Given the description of an element on the screen output the (x, y) to click on. 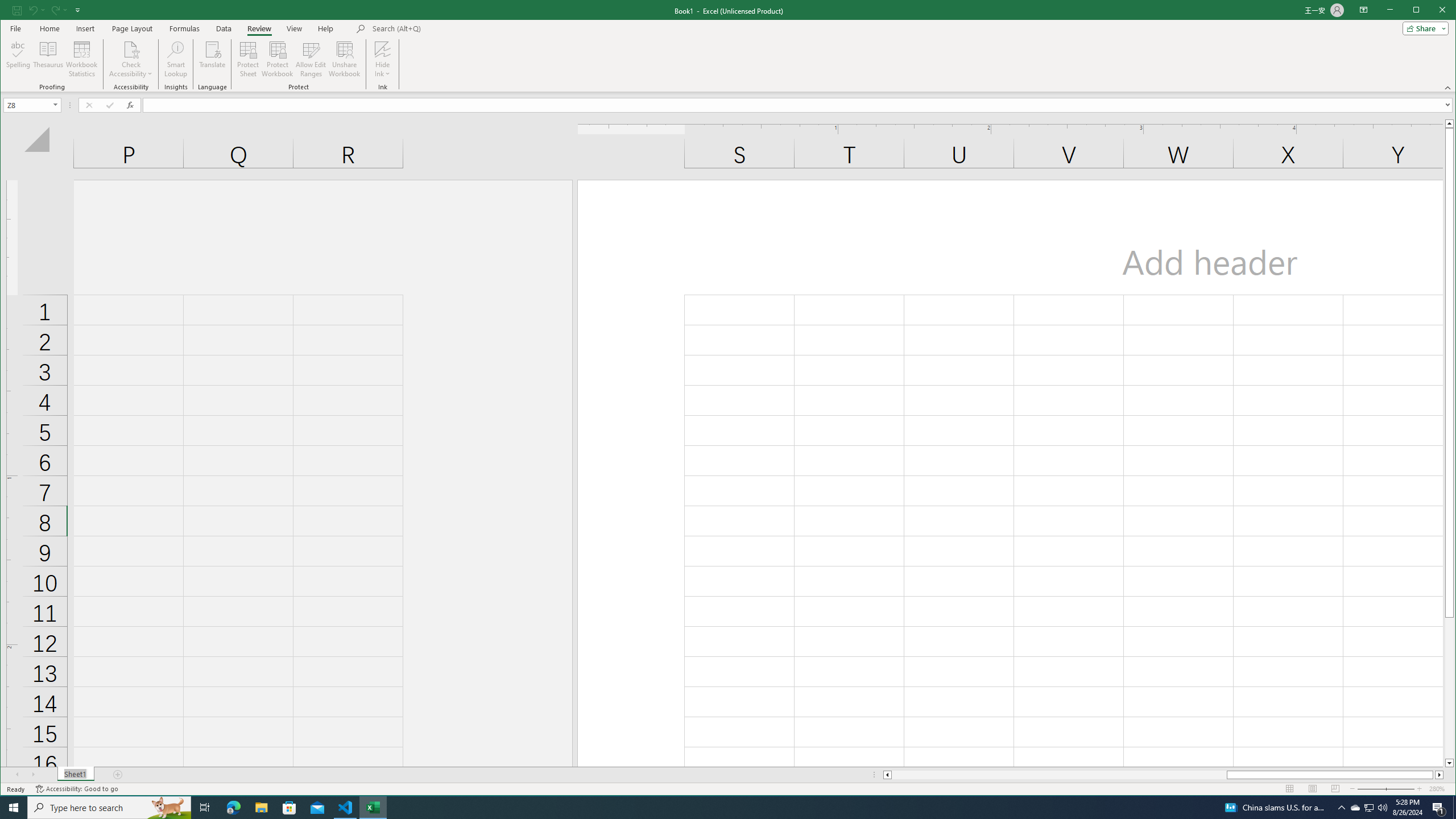
Page Layout (132, 28)
Column left (886, 774)
Q2790: 100% (1382, 807)
Allow Edit Ranges (310, 59)
Thesaurus... (48, 59)
More Options (382, 69)
Page left (1059, 774)
Normal (1289, 788)
Data (223, 28)
Show desktop (1454, 807)
System (10, 10)
Microsoft Edge (233, 807)
Page Layout (1312, 788)
